Given the description of an element on the screen output the (x, y) to click on. 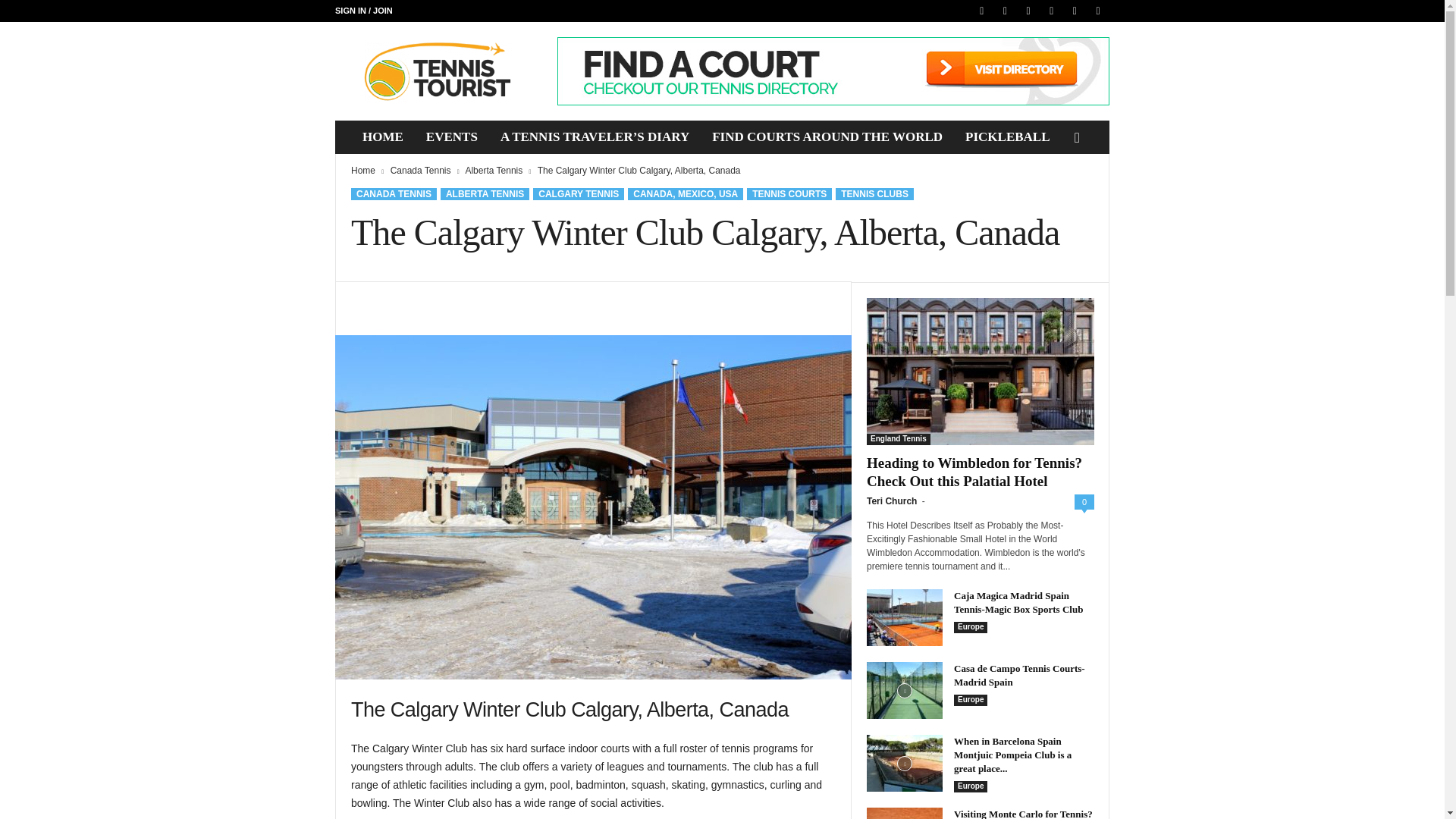
PICKLEBALL (1007, 136)
The Tennis Tourist (437, 70)
CANADA TENNIS (393, 193)
CALGARY TENNIS (578, 193)
Canada Tennis (420, 170)
ALBERTA TENNIS (485, 193)
Home (362, 170)
Alberta Tennis (493, 170)
FIND COURTS AROUND THE WORLD (826, 136)
HOME (382, 136)
